Given the description of an element on the screen output the (x, y) to click on. 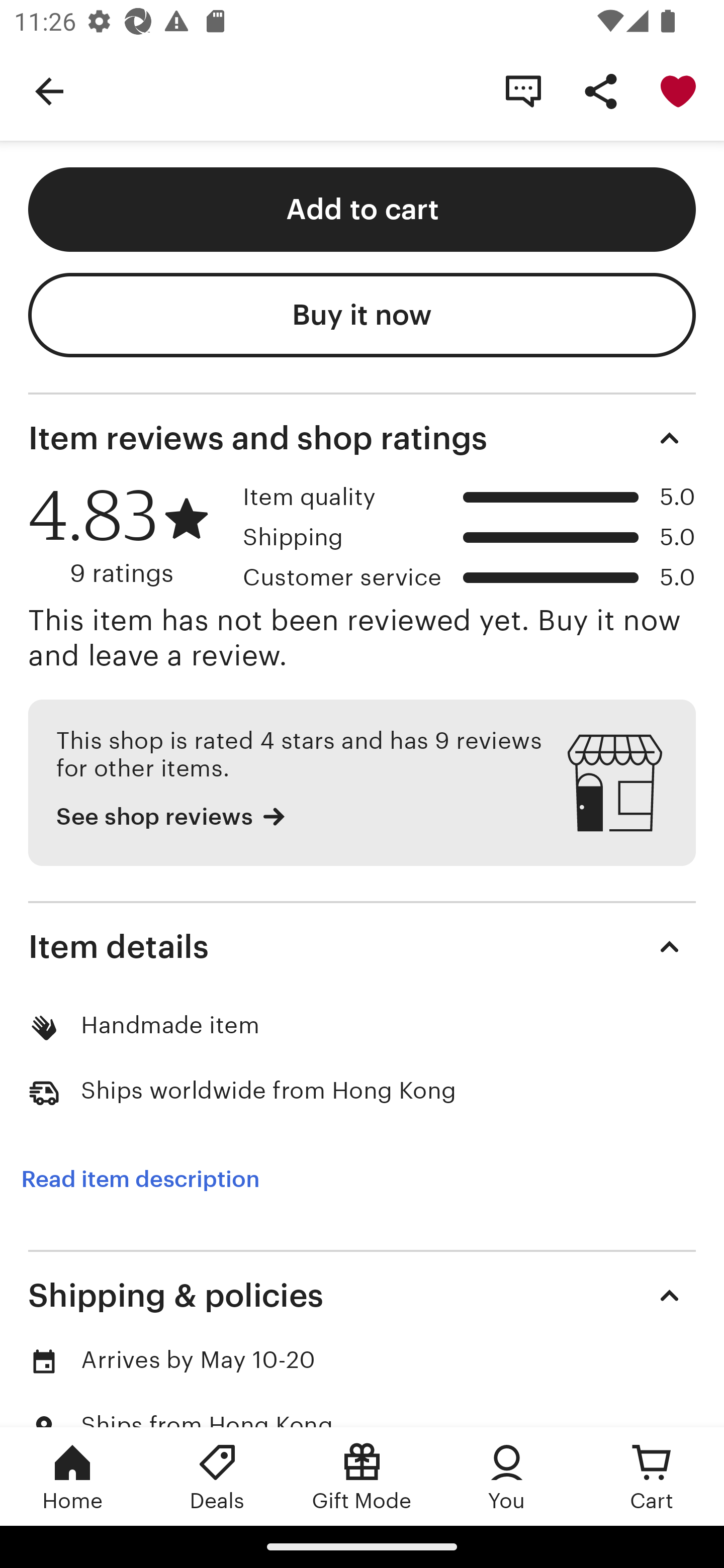
Navigate up (49, 90)
Contact shop (523, 90)
Share (600, 90)
Add to cart (361, 209)
Buy it now (361, 314)
Item reviews and shop ratings (362, 438)
4.83 9 ratings (128, 536)
Item details (362, 946)
Read item description (140, 1178)
Shipping & policies (362, 1294)
Deals (216, 1475)
Gift Mode (361, 1475)
You (506, 1475)
Cart (651, 1475)
